Given the description of an element on the screen output the (x, y) to click on. 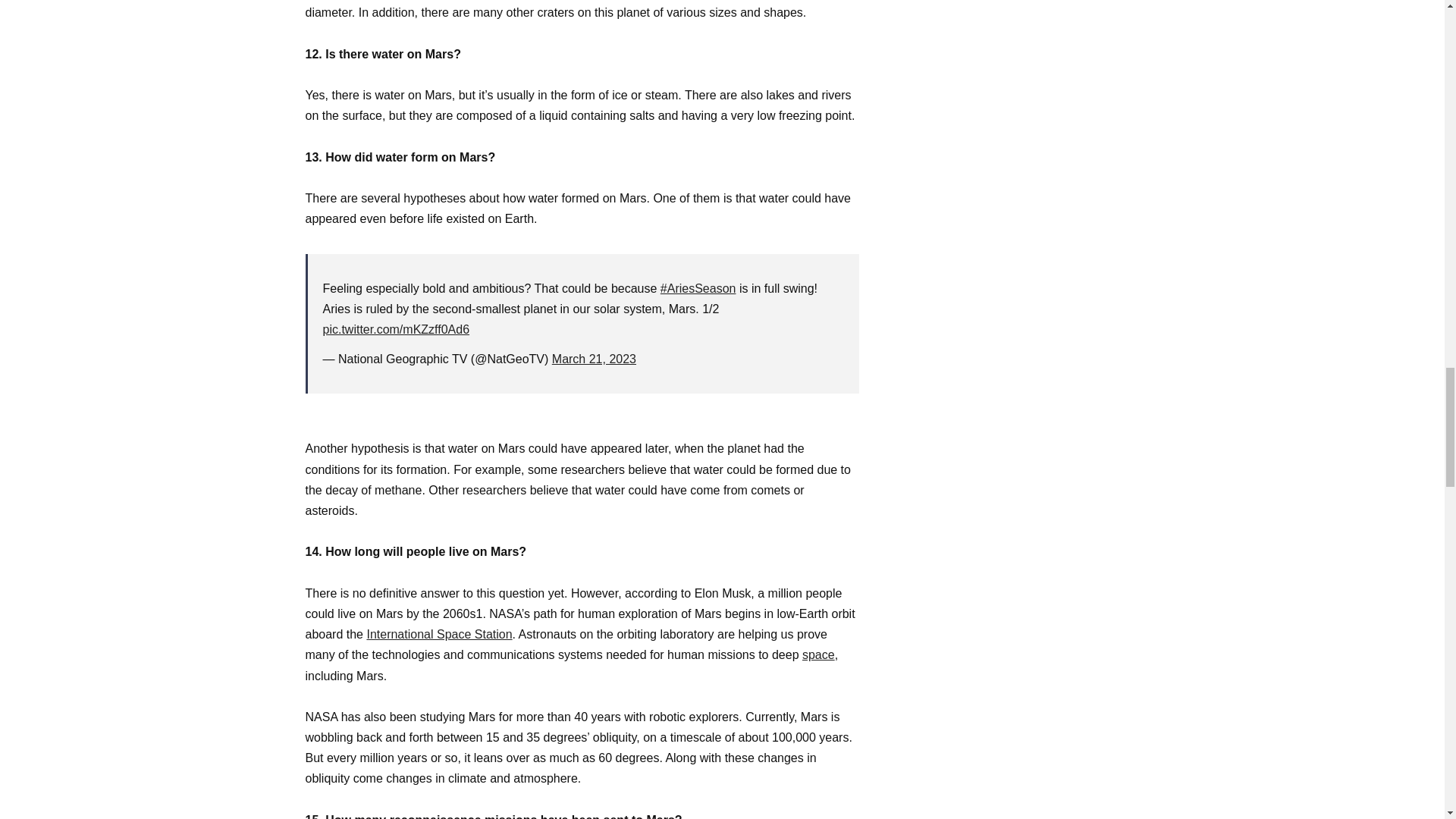
International Space Station (439, 634)
March 21, 2023 (593, 358)
space (818, 654)
